Given the description of an element on the screen output the (x, y) to click on. 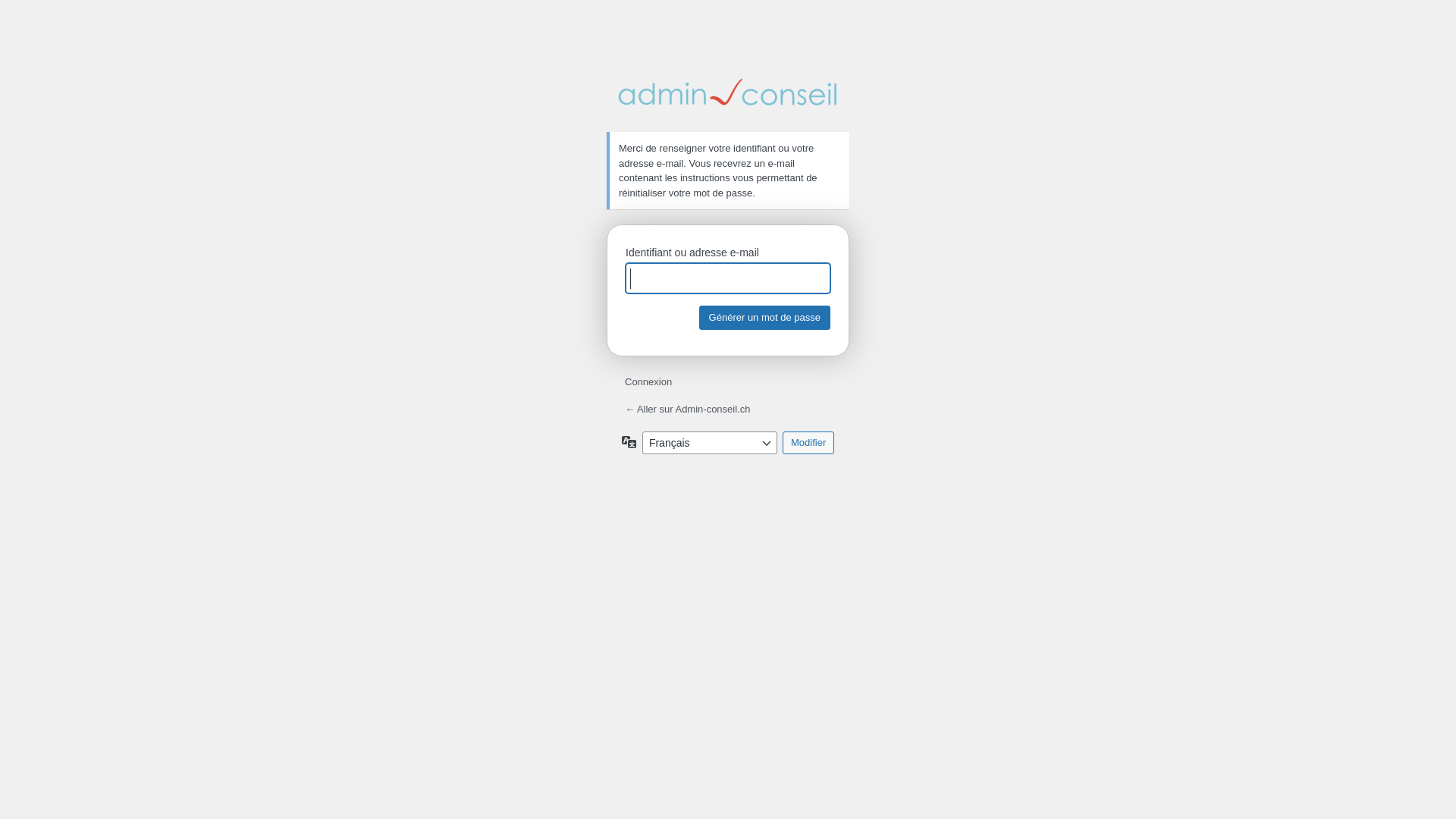
Modifier Element type: text (808, 442)
Admin-conseil.ch Element type: text (727, 92)
Connexion Element type: text (647, 381)
